Given the description of an element on the screen output the (x, y) to click on. 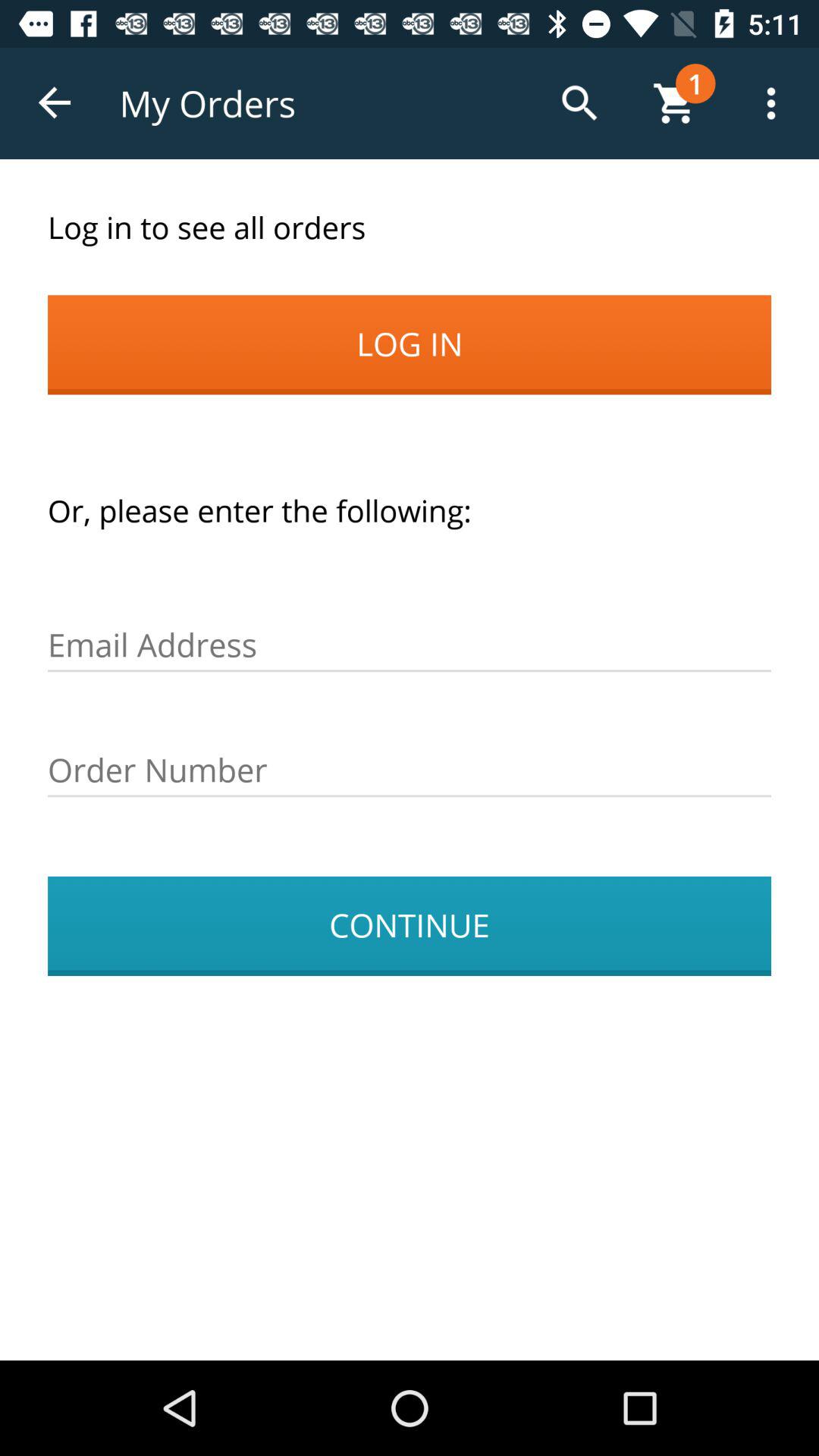
enter text (409, 770)
